Given the description of an element on the screen output the (x, y) to click on. 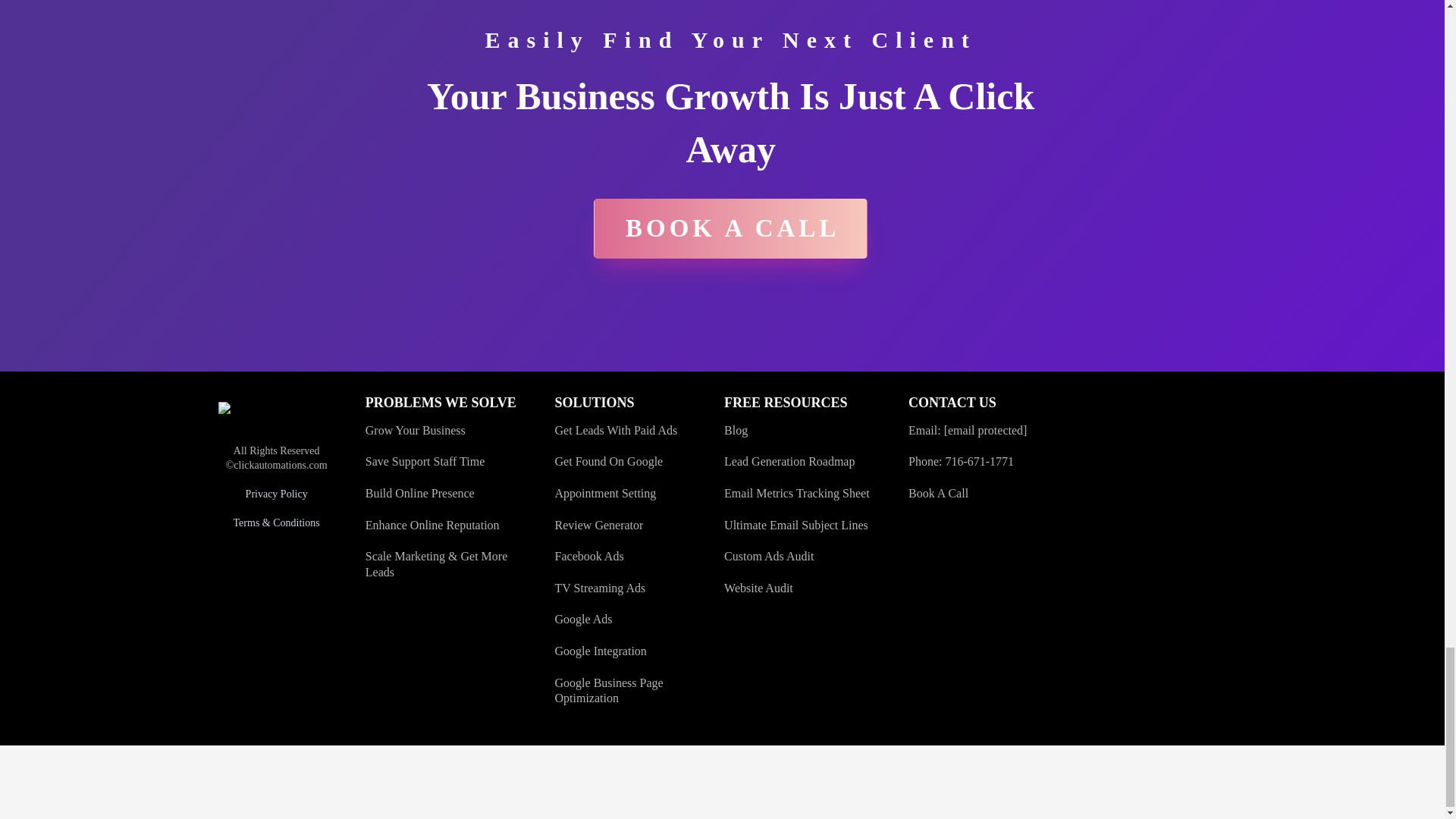
Privacy Policy (276, 493)
Book A Call (938, 492)
Ultimate Email Subject Lines (795, 524)
BOOK A CALL (730, 228)
Email Metrics Tracking Sheet (796, 492)
Custom (743, 555)
Lead Generation Roadmap (788, 461)
Blog (735, 430)
